Given the description of an element on the screen output the (x, y) to click on. 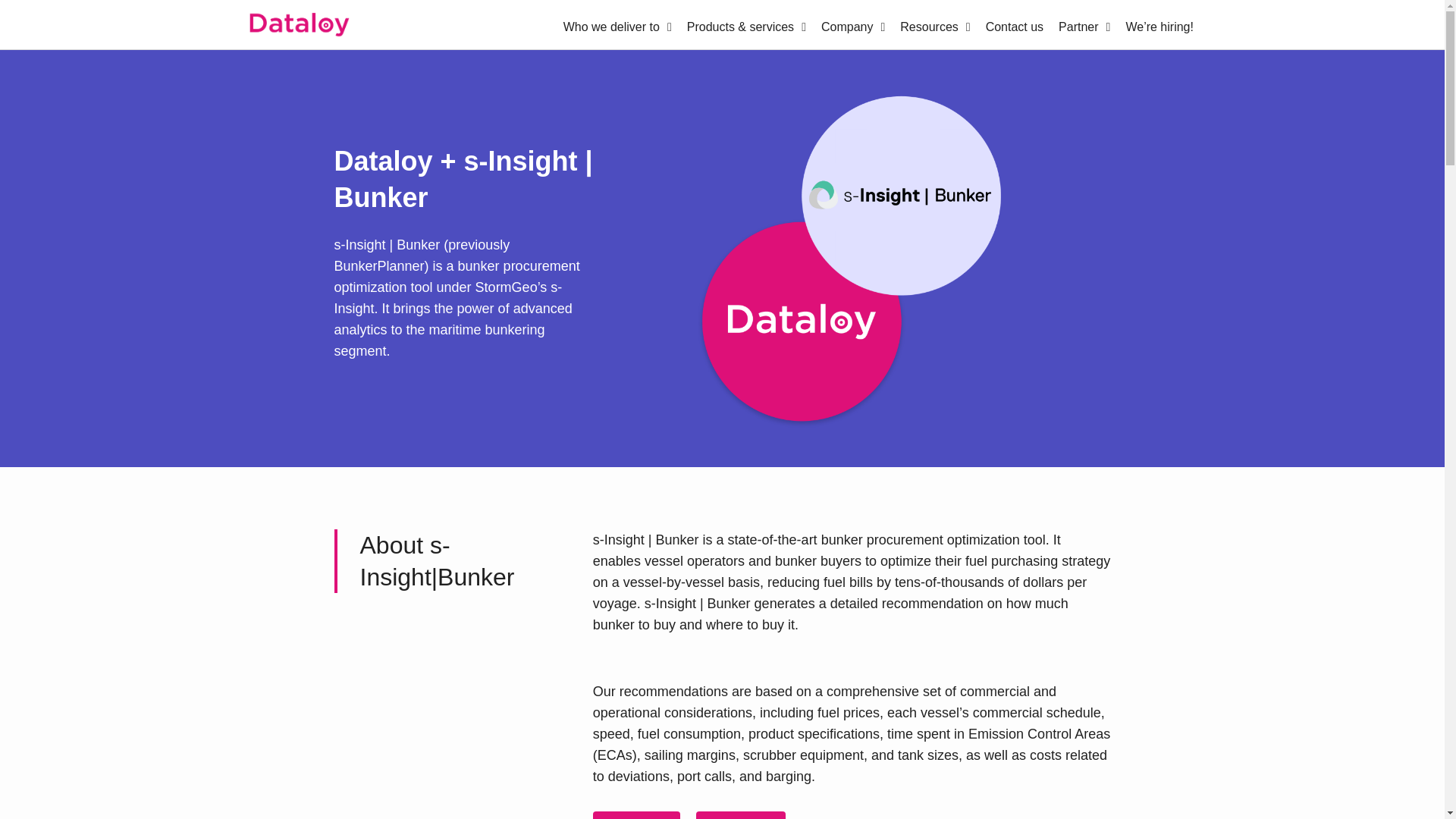
Partner (1084, 27)
Resources (934, 27)
Company (852, 27)
Contact us (1014, 27)
Who we deliver to (617, 27)
